Given the description of an element on the screen output the (x, y) to click on. 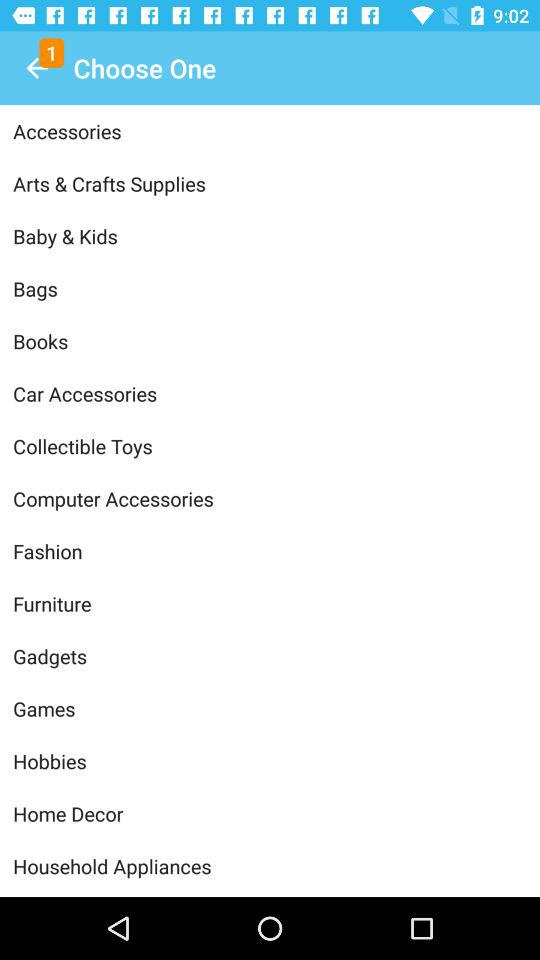
tap icon below furniture item (269, 656)
